Given the description of an element on the screen output the (x, y) to click on. 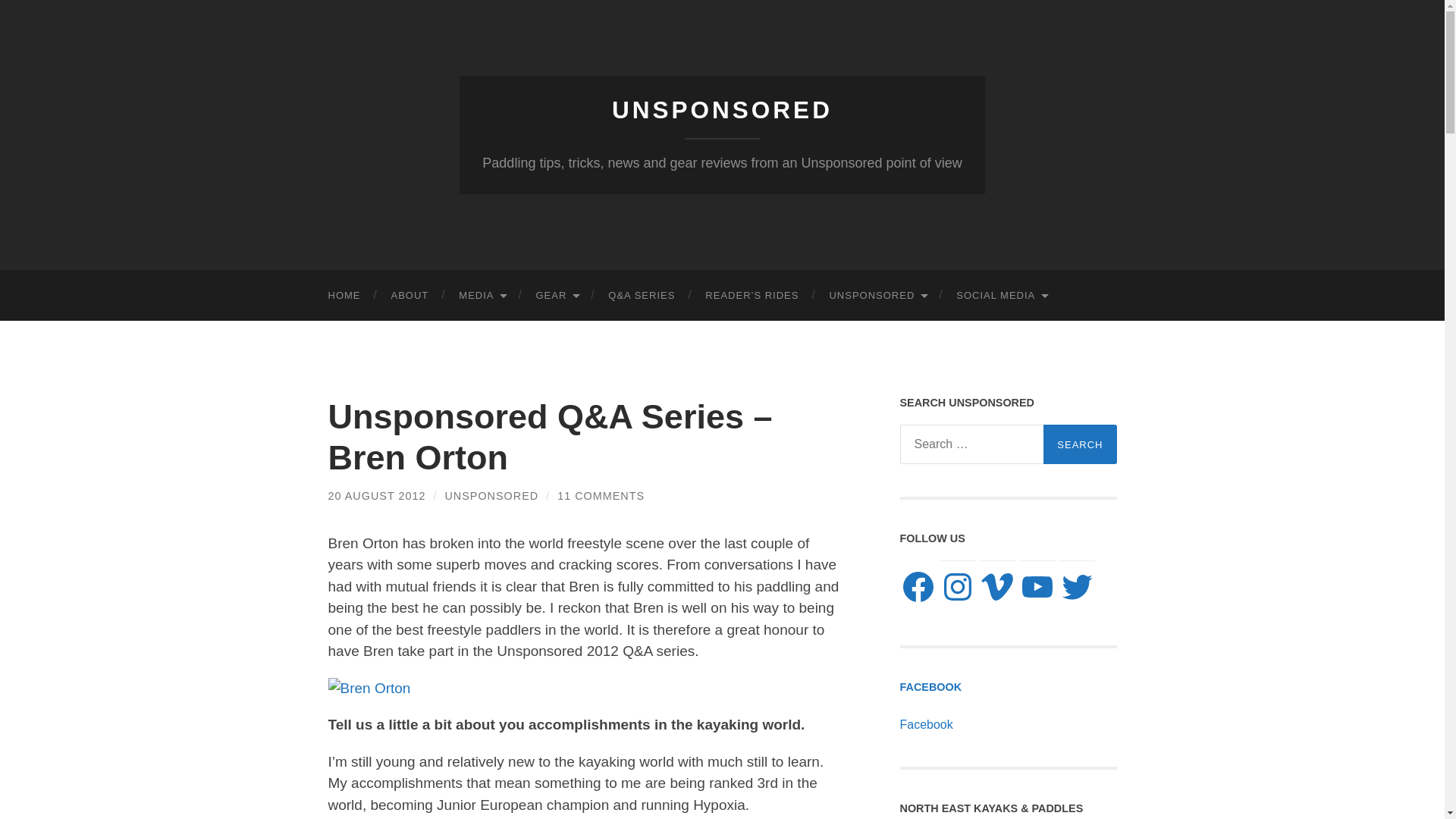
UNSPONSORED (721, 109)
Posts by Unsponsored (491, 495)
MEDIA (481, 295)
UNSPONSORED (876, 295)
HOME (344, 295)
Search (1079, 444)
Bren1 (368, 689)
Search (1079, 444)
SOCIAL MEDIA (1000, 295)
ABOUT (409, 295)
GEAR (555, 295)
